Given the description of an element on the screen output the (x, y) to click on. 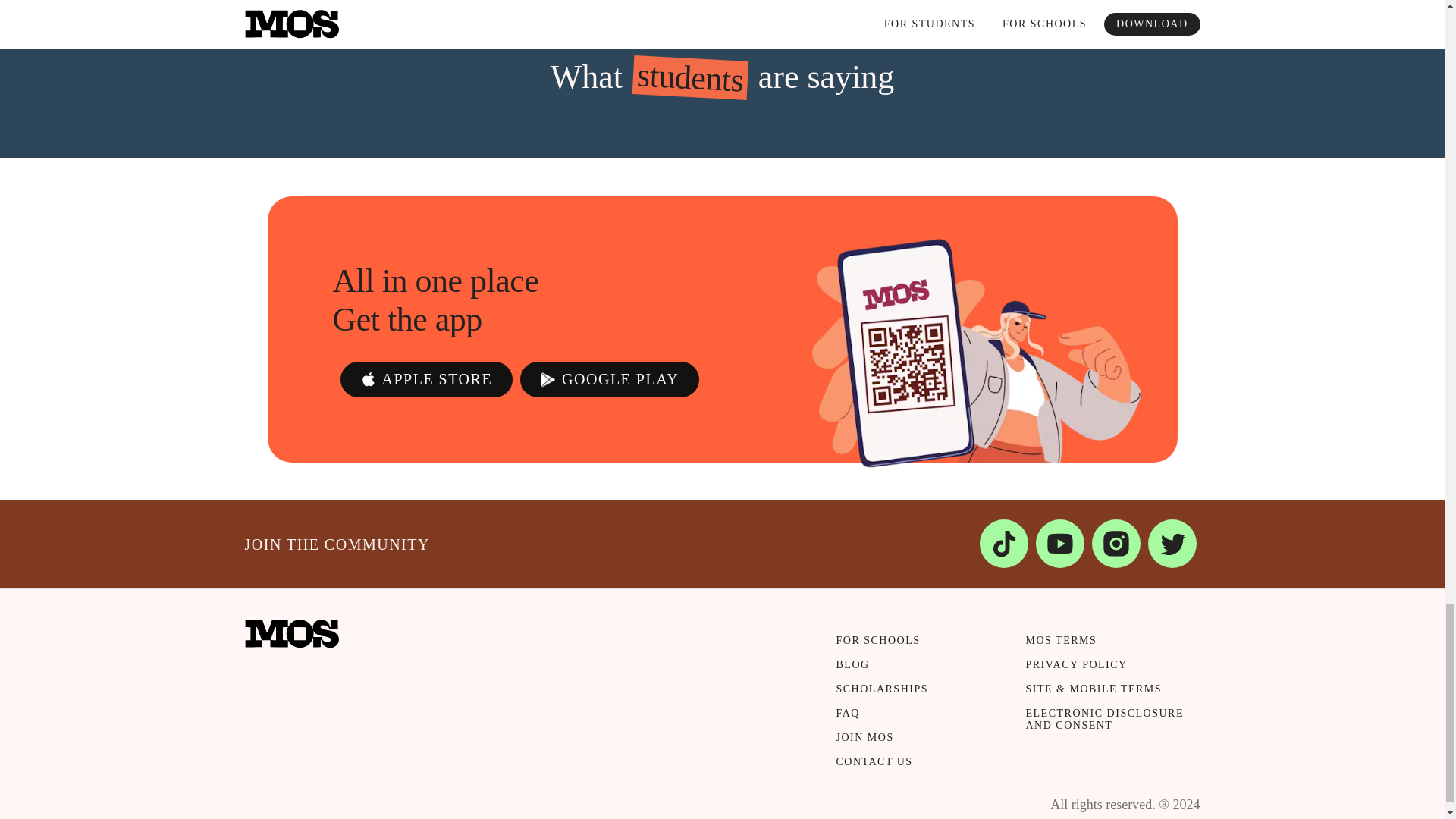
FAQ (914, 719)
GOOGLE PLAY (608, 379)
PRIVACY POLICY (1105, 671)
FOR SCHOOLS (914, 646)
APPLE STORE (425, 379)
MOS TERMS (1105, 646)
ELECTRONIC DISCLOSURE AND CONSENT (1105, 725)
BLOG (914, 671)
SCHOLARSHIPS (914, 695)
CONTACT US (914, 767)
JOIN MOS (914, 743)
